Given the description of an element on the screen output the (x, y) to click on. 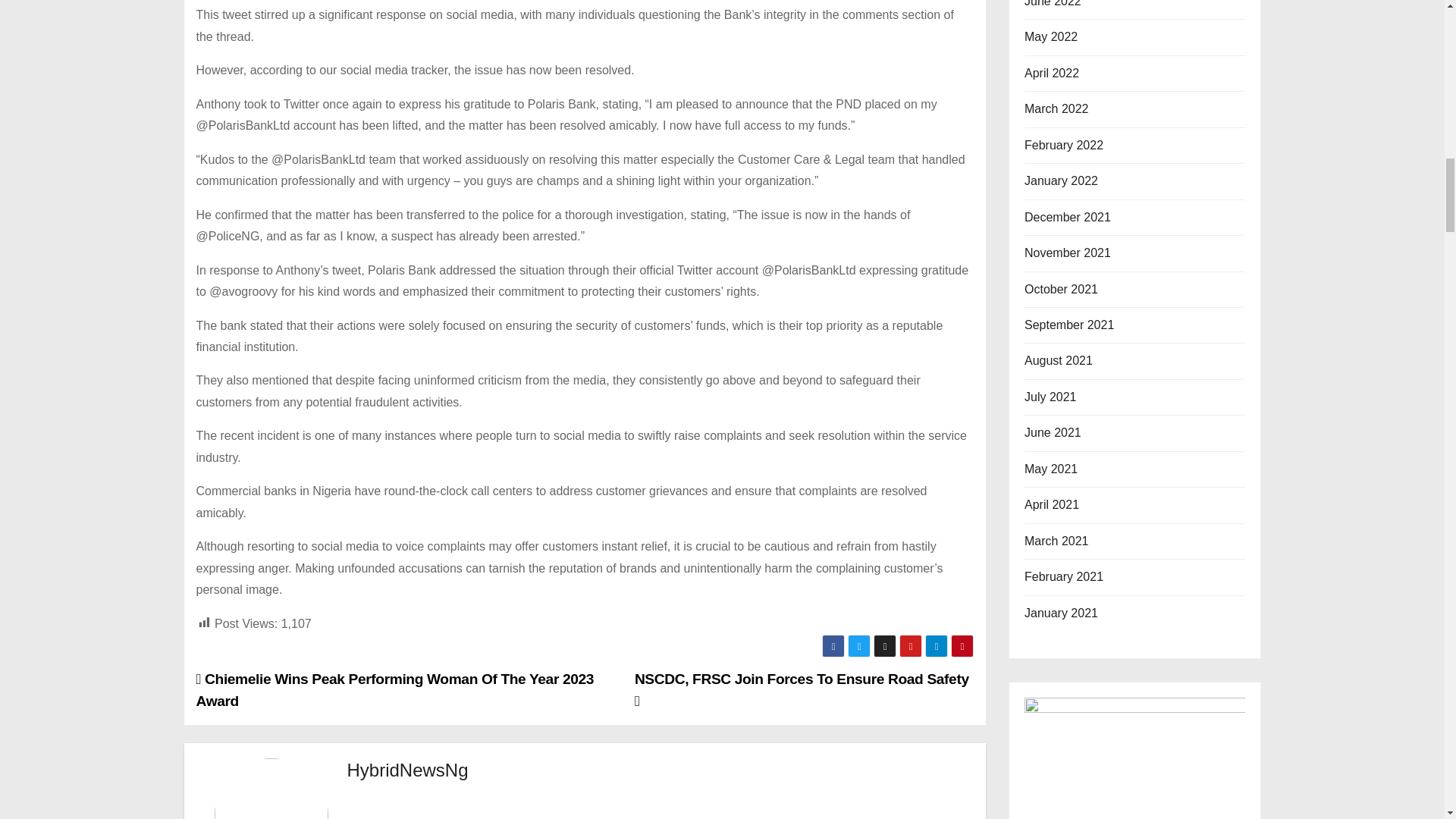
HybridNewsNg (407, 770)
Chiemelie Wins Peak Performing Woman Of The Year 2023 Award (394, 689)
NSCDC, FRSC Join Forces To Ensure Road Safety (801, 689)
